Given the description of an element on the screen output the (x, y) to click on. 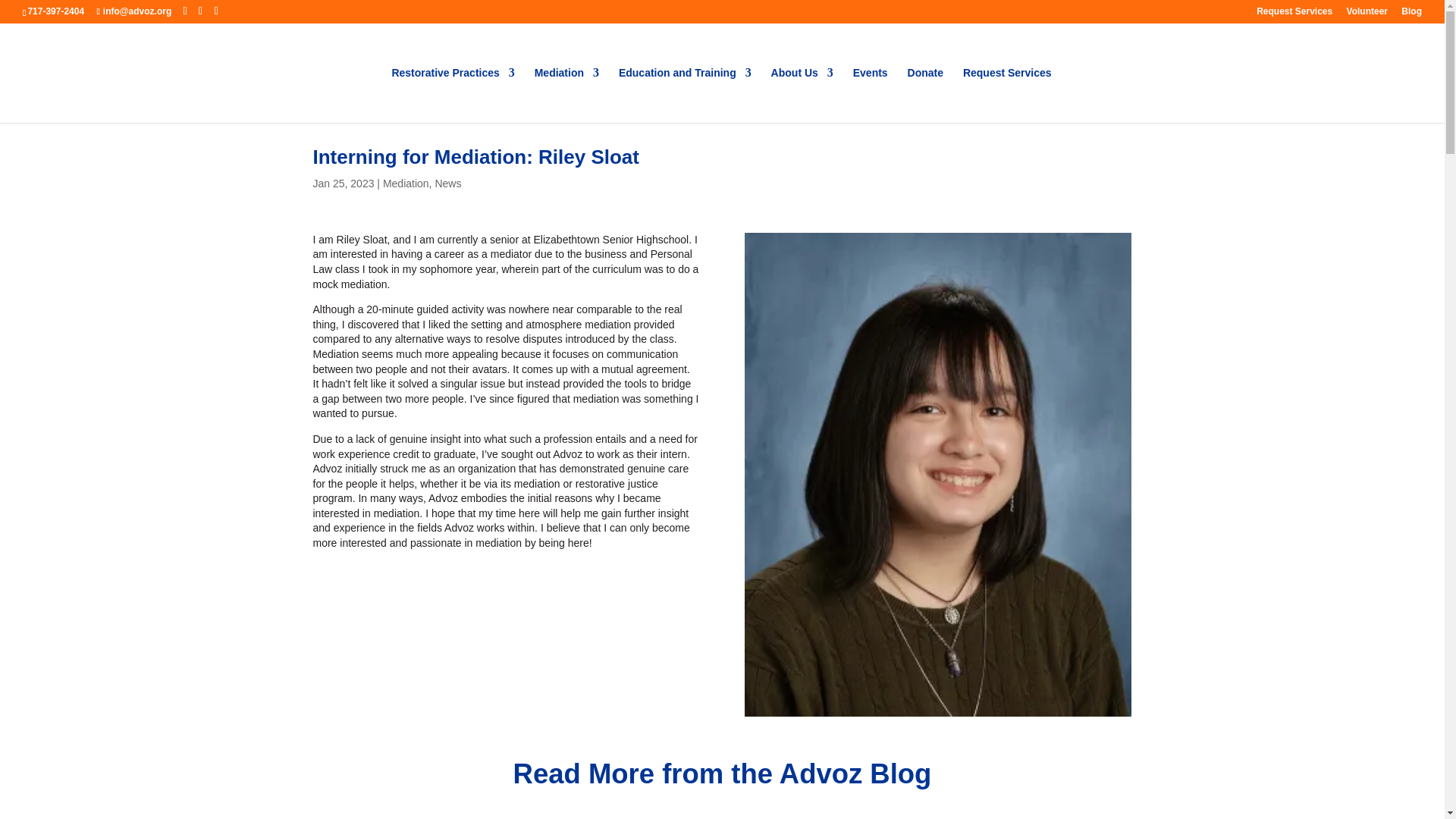
Request Services (1006, 94)
Mediation (566, 94)
About Us (801, 94)
Blog (1411, 14)
Education and Training (684, 94)
Request Services (1294, 14)
Volunteer (1366, 14)
Restorative Practices (452, 94)
